Given the description of an element on the screen output the (x, y) to click on. 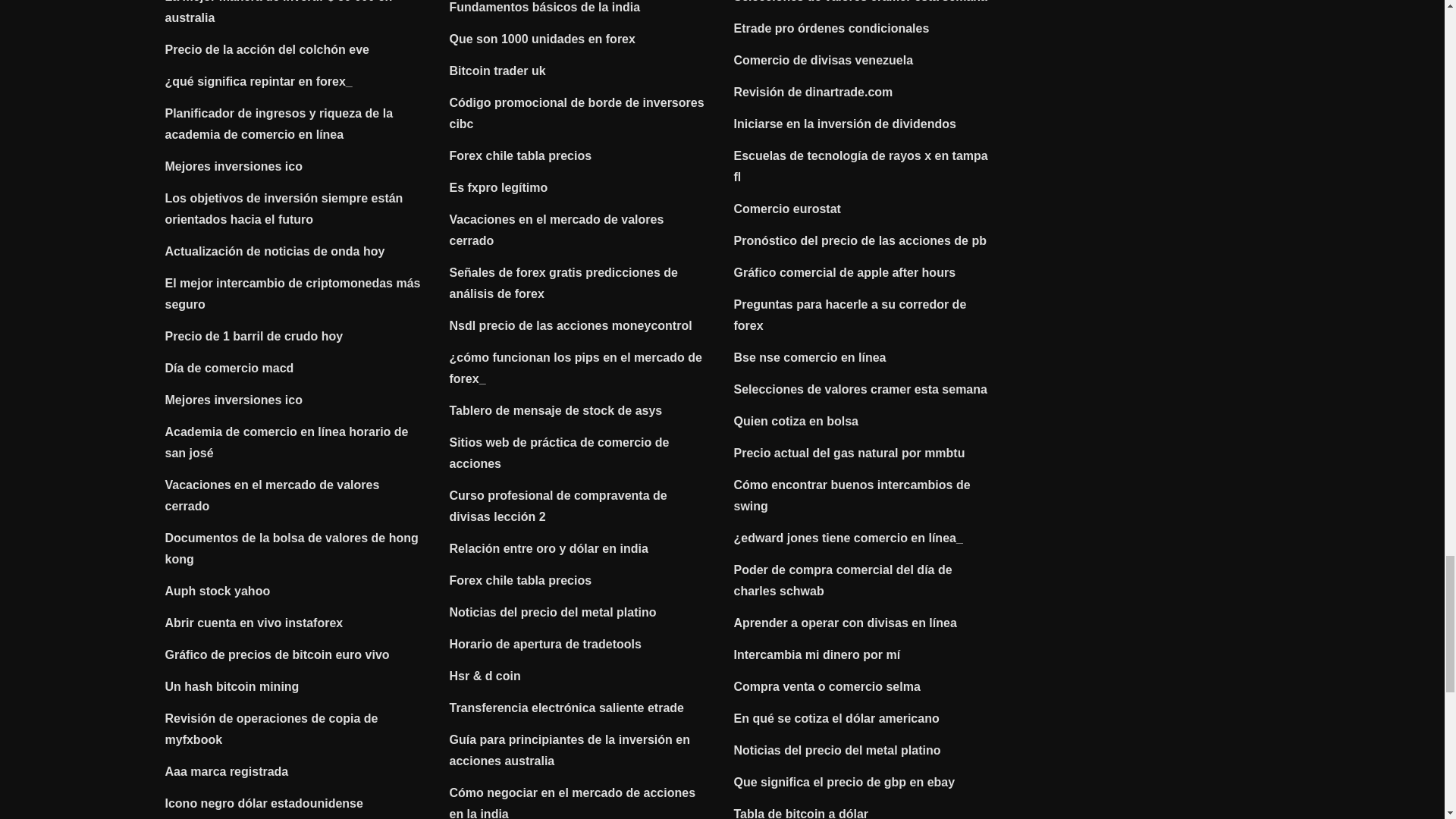
Aaa marca registrada (226, 771)
Mejores inversiones ico (233, 165)
Un hash bitcoin mining (232, 686)
Documentos de la bolsa de valores de hong kong (292, 548)
Auph stock yahoo (217, 590)
Mejores inversiones ico (233, 399)
Precio de 1 barril de crudo hoy (254, 336)
Abrir cuenta en vivo instaforex (254, 622)
Vacaciones en el mercado de valores cerrado (272, 495)
